Given the description of an element on the screen output the (x, y) to click on. 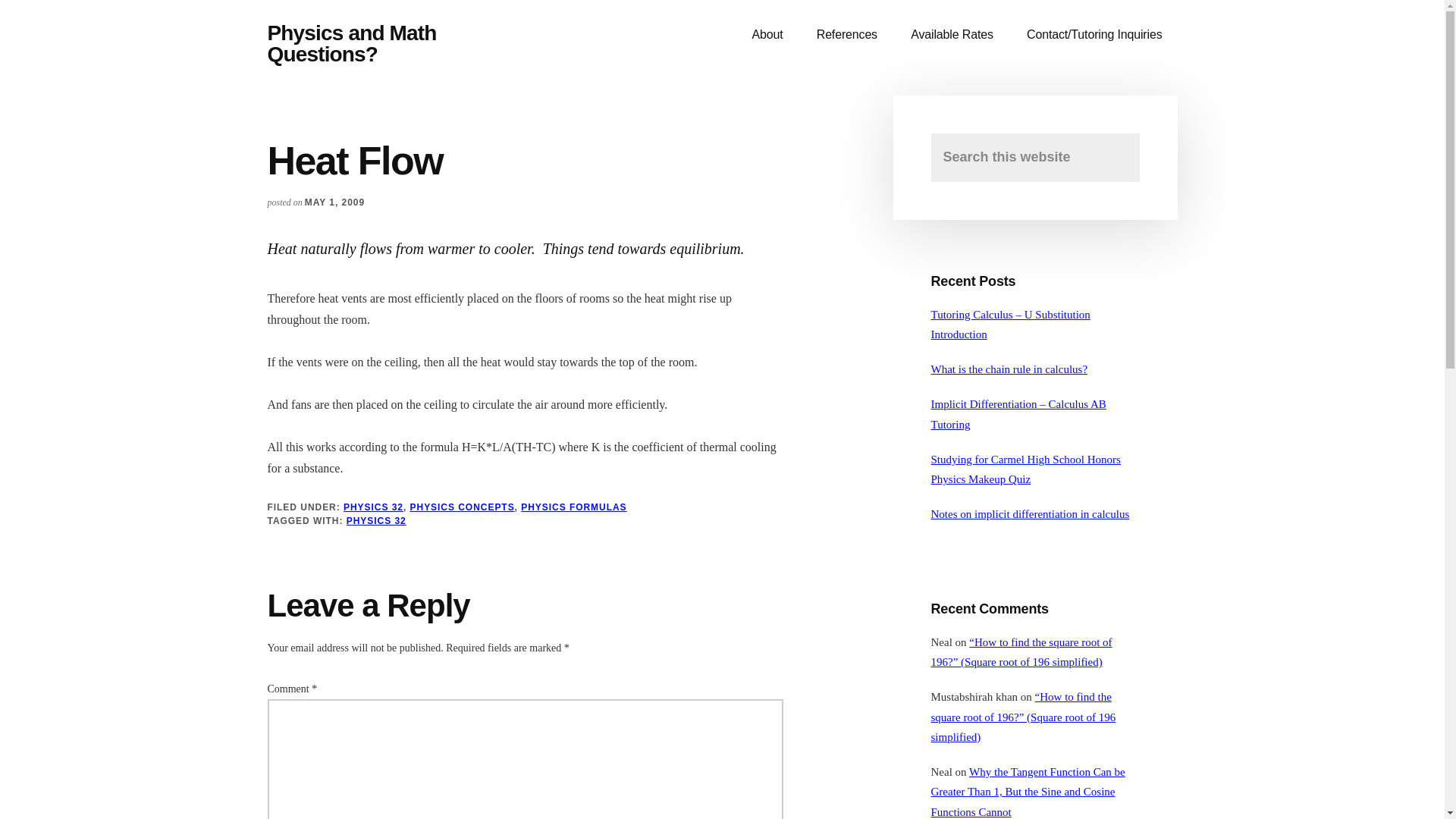
References (847, 34)
PHYSICS FORMULAS (573, 507)
Studying for Carmel High School Honors Physics Makeup Quiz (1026, 469)
Physics and Math Questions? (350, 43)
Available Rates (951, 34)
Notes on implicit differentiation in calculus (1030, 513)
